Given the description of an element on the screen output the (x, y) to click on. 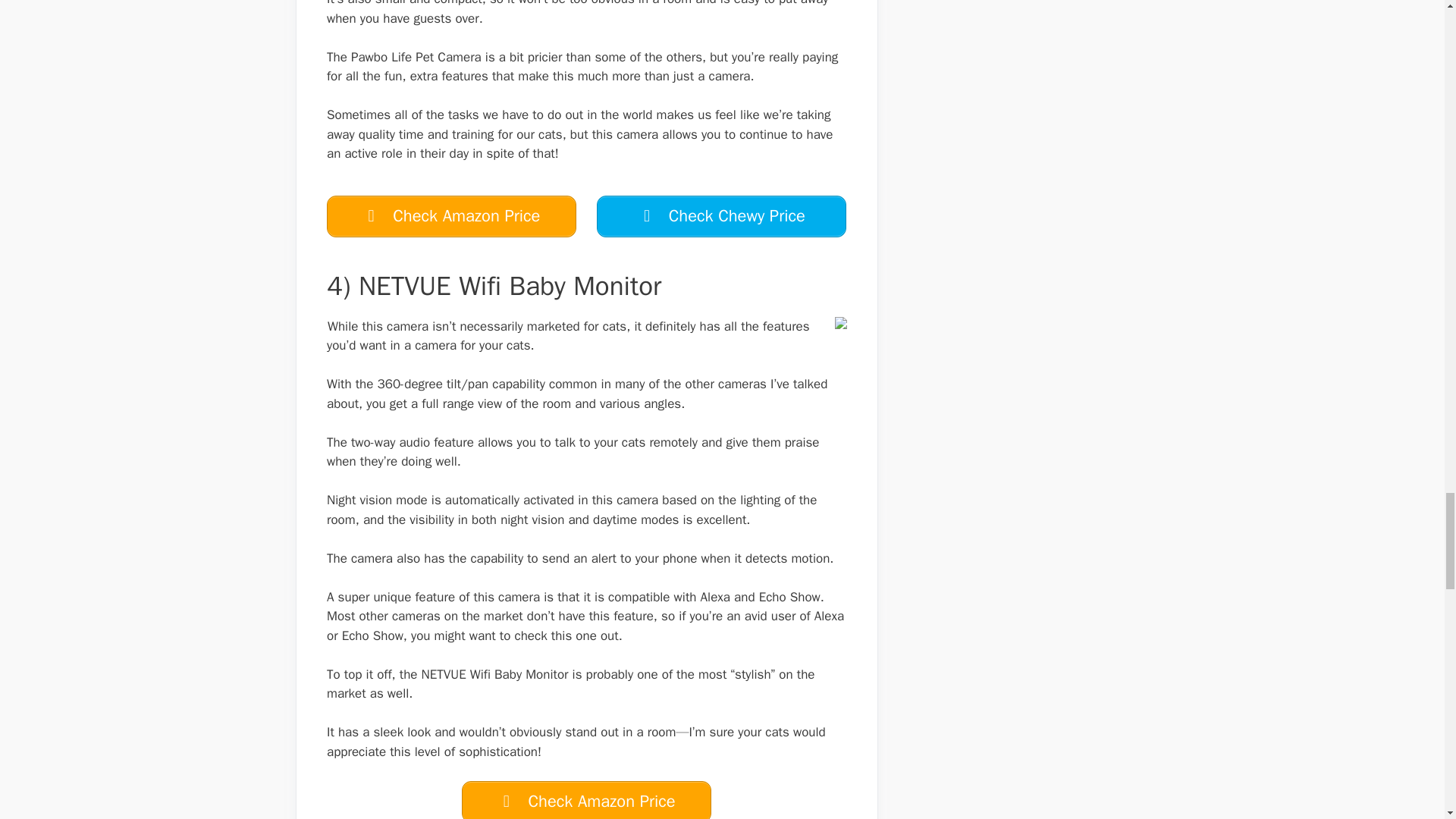
Check Chewy Price (720, 216)
Check Amazon Price (451, 216)
Check Amazon Price (586, 800)
